Given the description of an element on the screen output the (x, y) to click on. 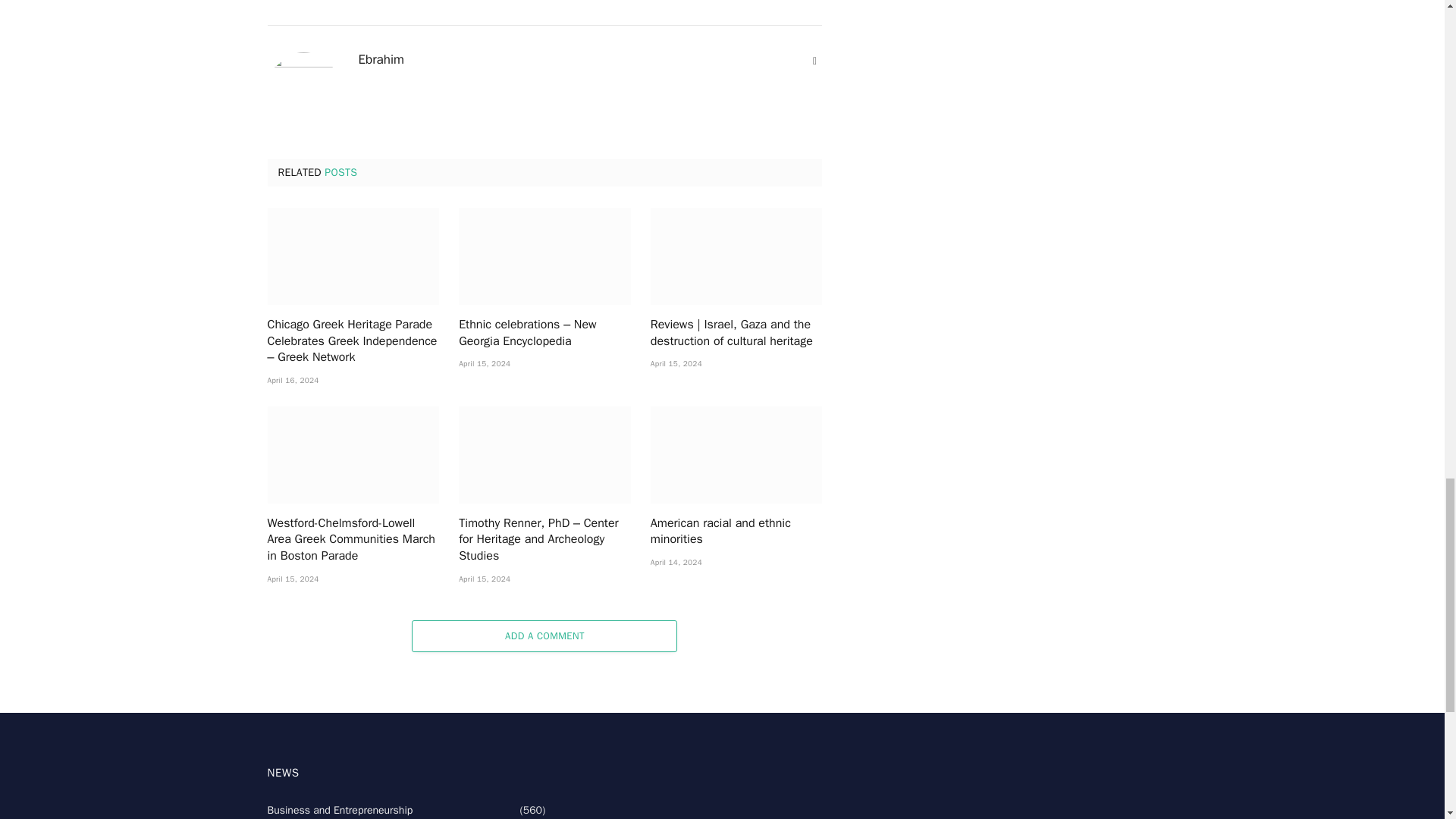
Website (814, 61)
Posts by Ebrahim (380, 59)
Website (814, 61)
American racial and ethnic minorities (736, 531)
Ebrahim (380, 59)
